Given the description of an element on the screen output the (x, y) to click on. 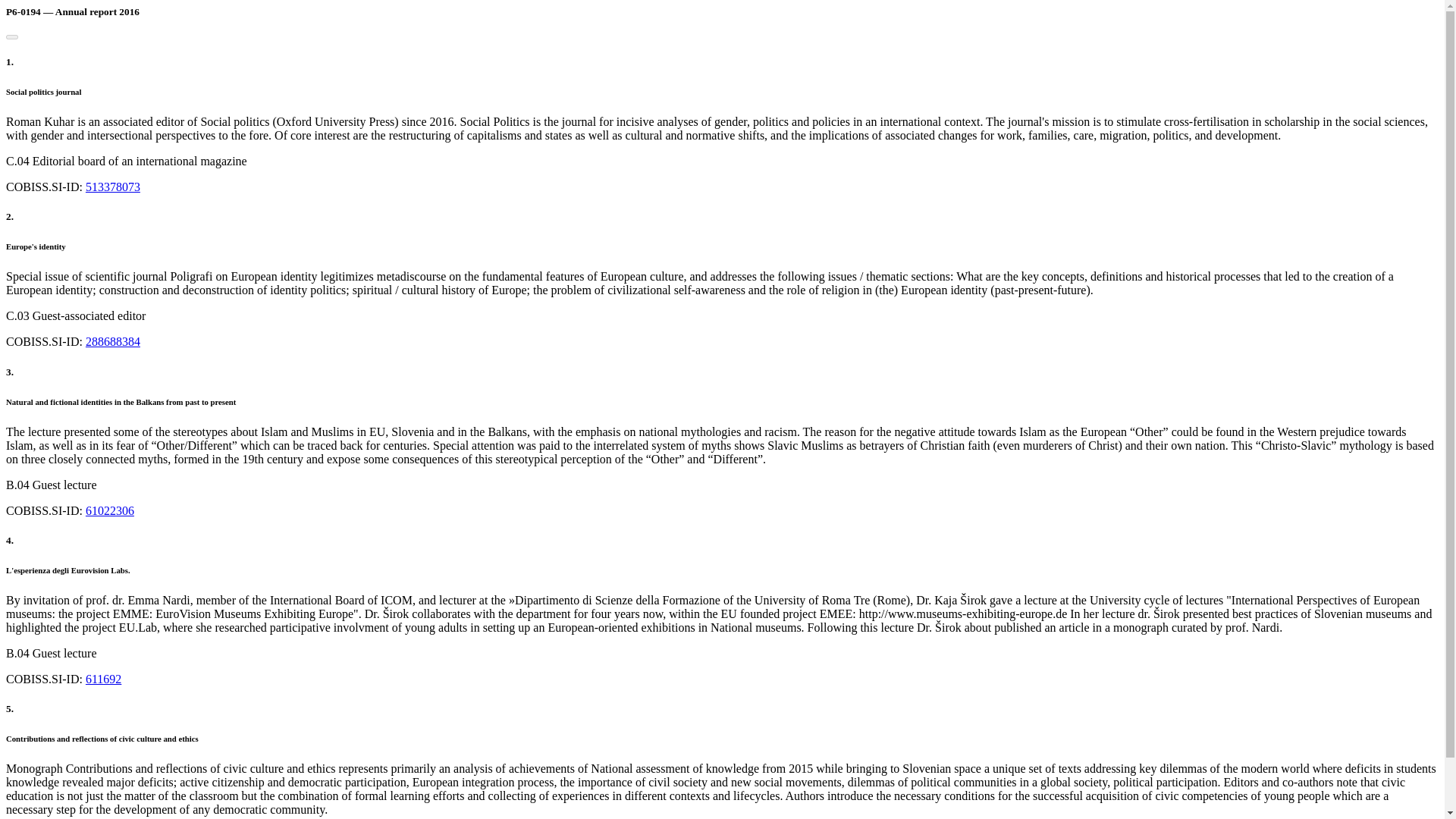
513378073 (112, 186)
61022306 (109, 509)
611692 (102, 678)
288688384 (112, 341)
